Given the description of an element on the screen output the (x, y) to click on. 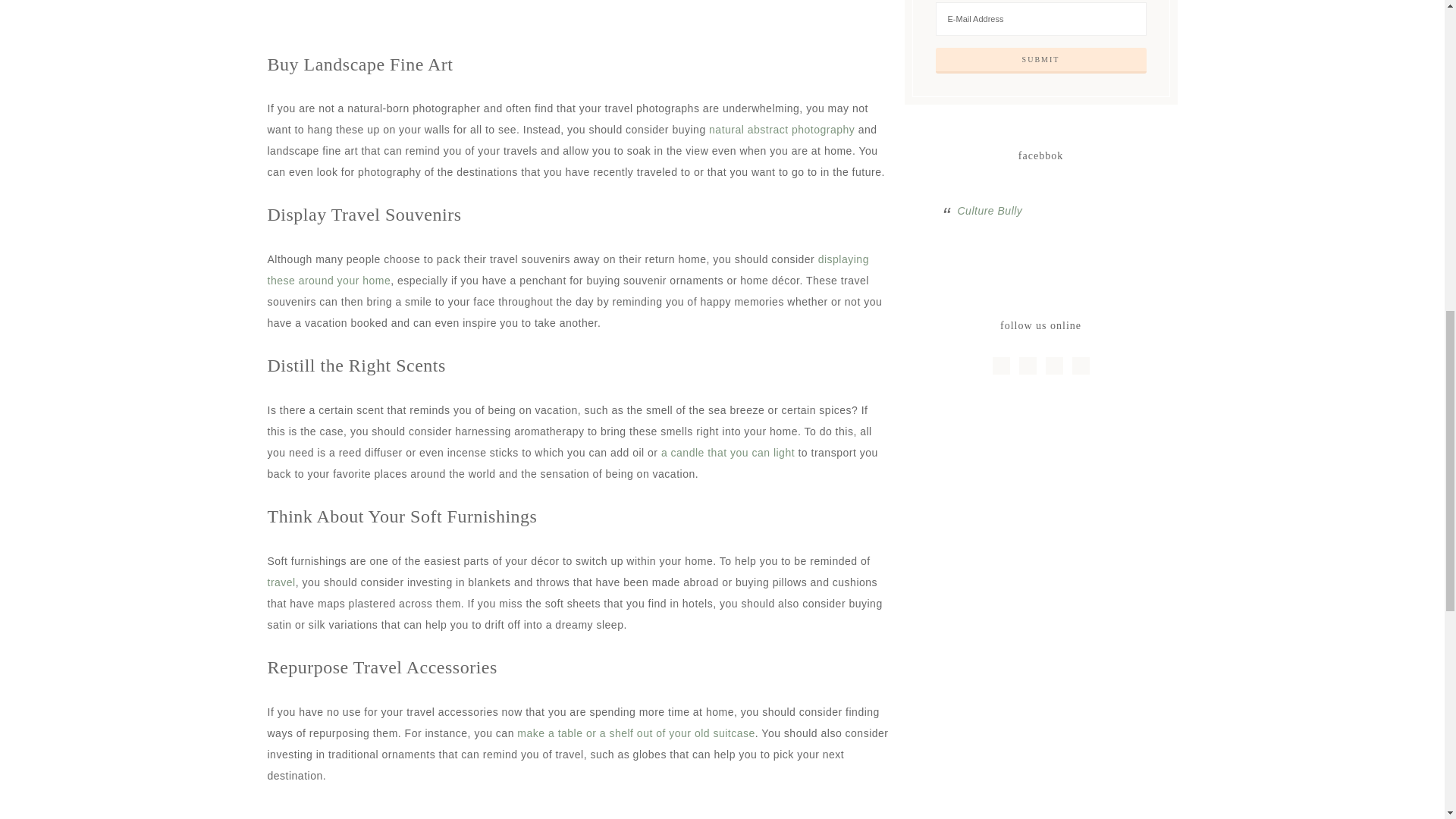
a candle that you can light (727, 452)
natural abstract photography (781, 129)
Submit (1041, 60)
make a table or a shelf out of your old suitcase (635, 733)
travel (280, 582)
Culture Bully (989, 210)
Submit (1041, 60)
displaying these around your home (566, 269)
